Given the description of an element on the screen output the (x, y) to click on. 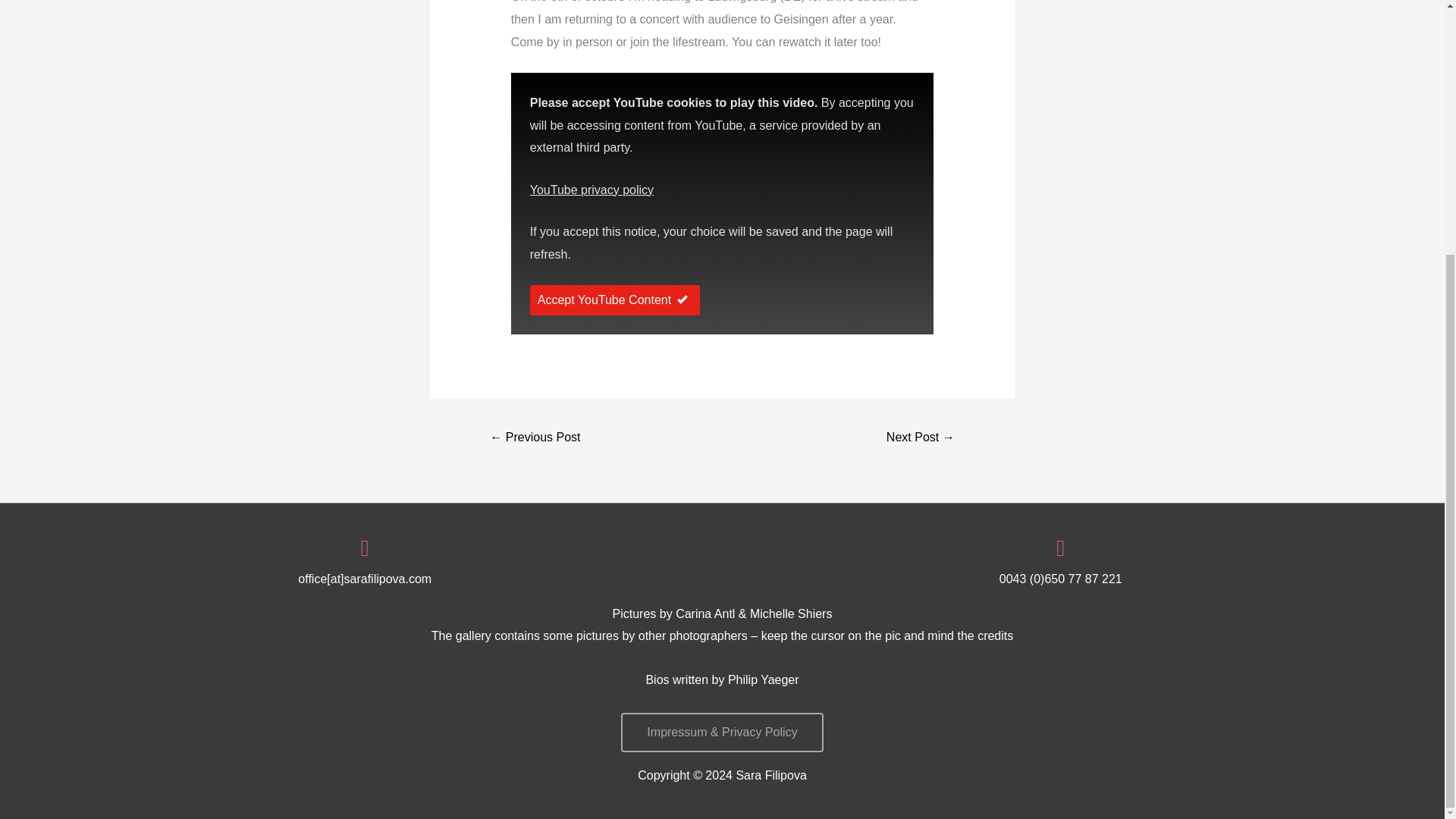
Accept YouTube Content (614, 300)
YouTube privacy policy (591, 189)
